Given the description of an element on the screen output the (x, y) to click on. 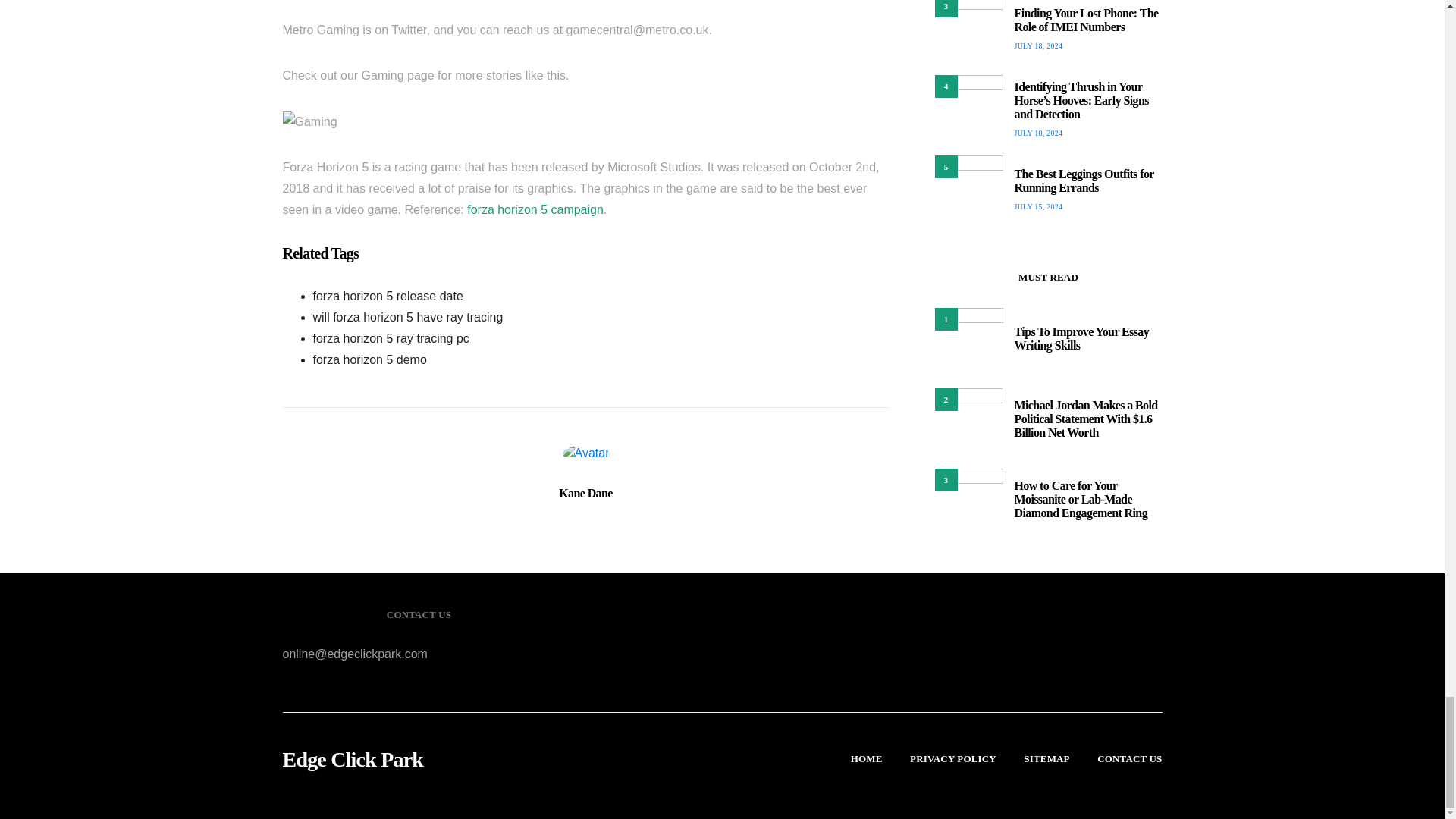
Kane Dane (585, 492)
forza horizon 5 campaign (535, 209)
